Given the description of an element on the screen output the (x, y) to click on. 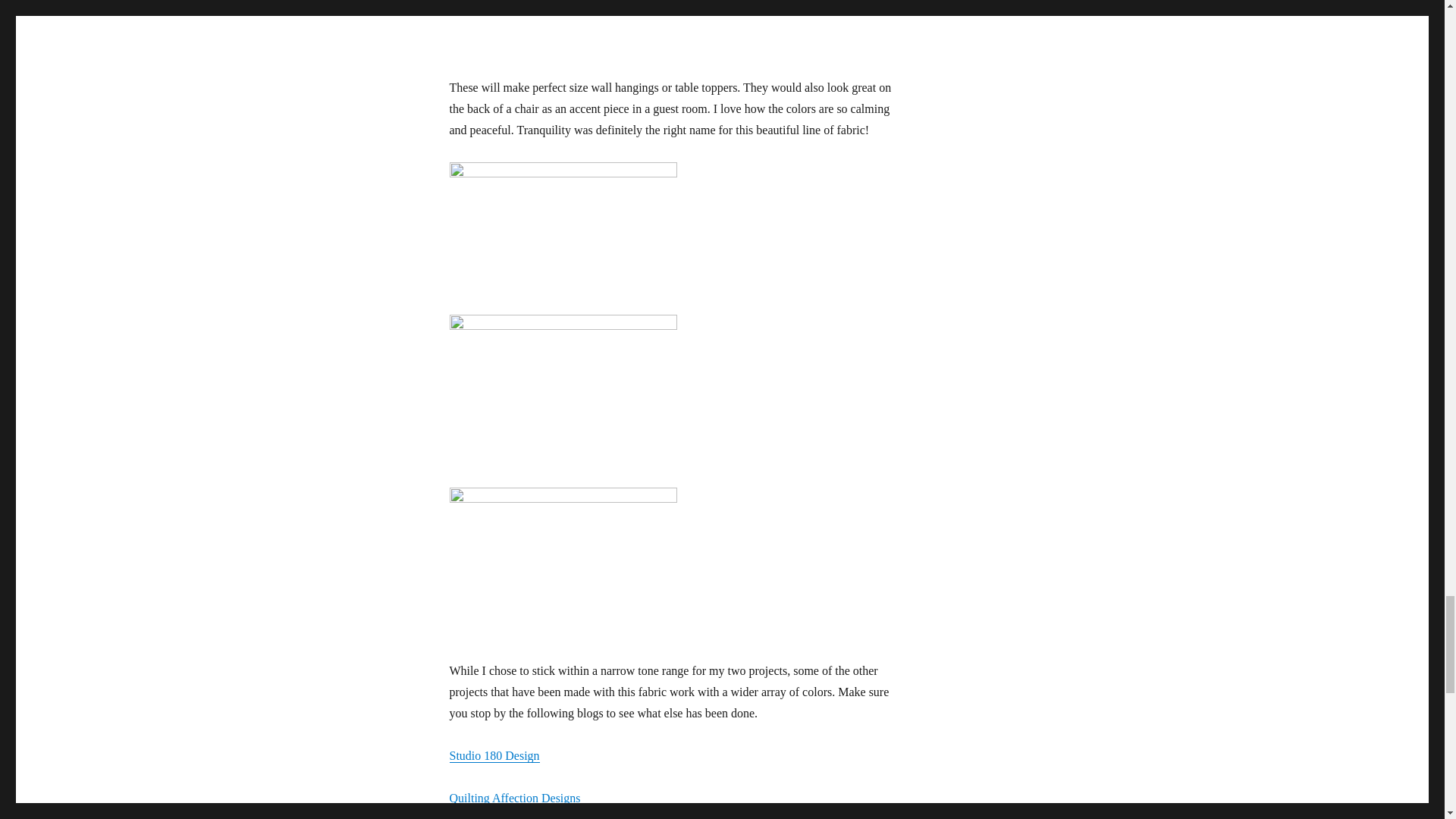
Studio 180 Design (493, 755)
Quilting Affection Designs (513, 797)
